Given the description of an element on the screen output the (x, y) to click on. 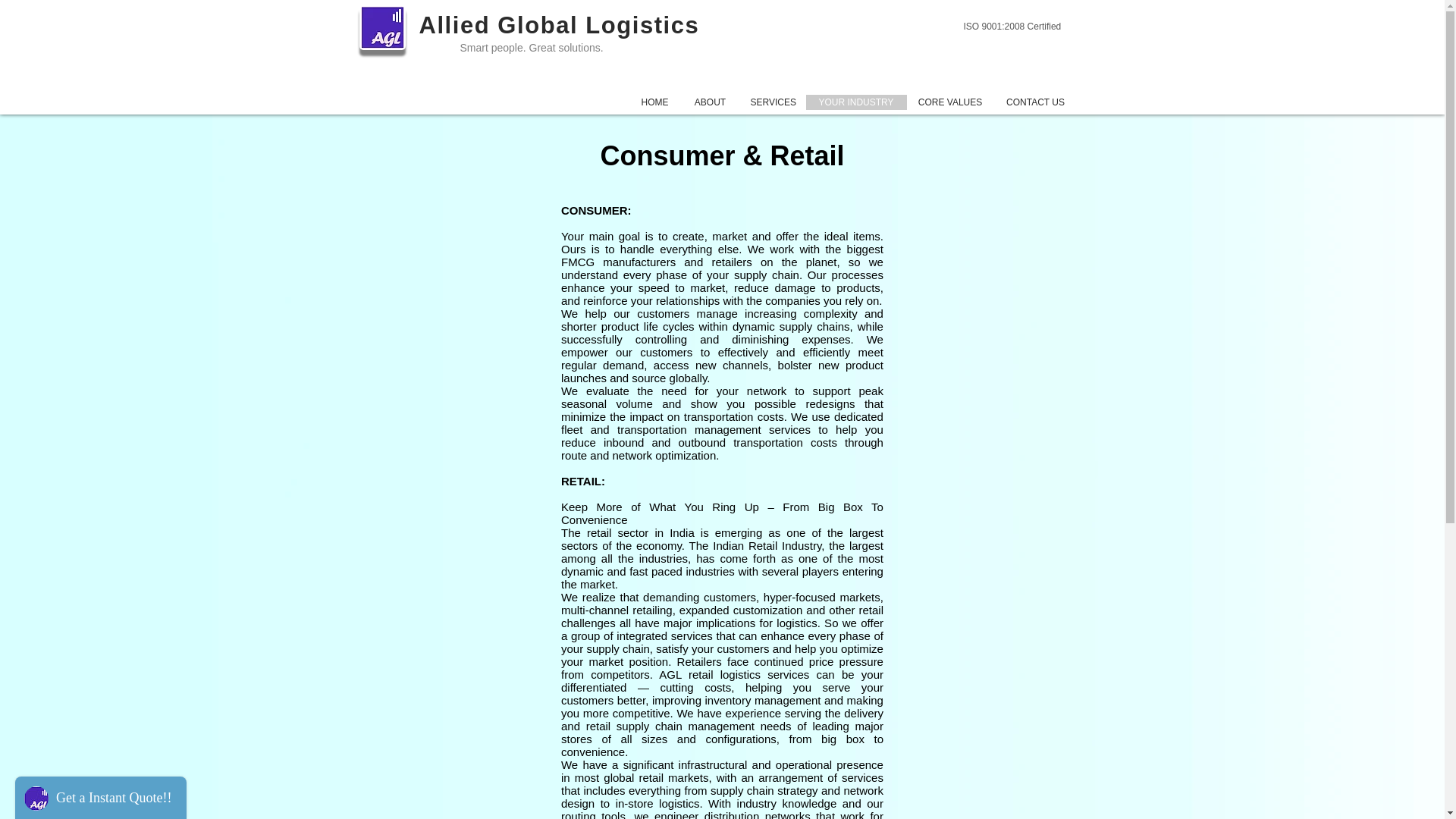
CORE VALUES (950, 102)
HOME (654, 102)
Wix Chat (96, 794)
CONTACT US (1034, 102)
YOUR INDUSTRY (855, 102)
Allied Global Logistics  (562, 25)
SERVICES (771, 102)
ABOUT (709, 102)
